Given the description of an element on the screen output the (x, y) to click on. 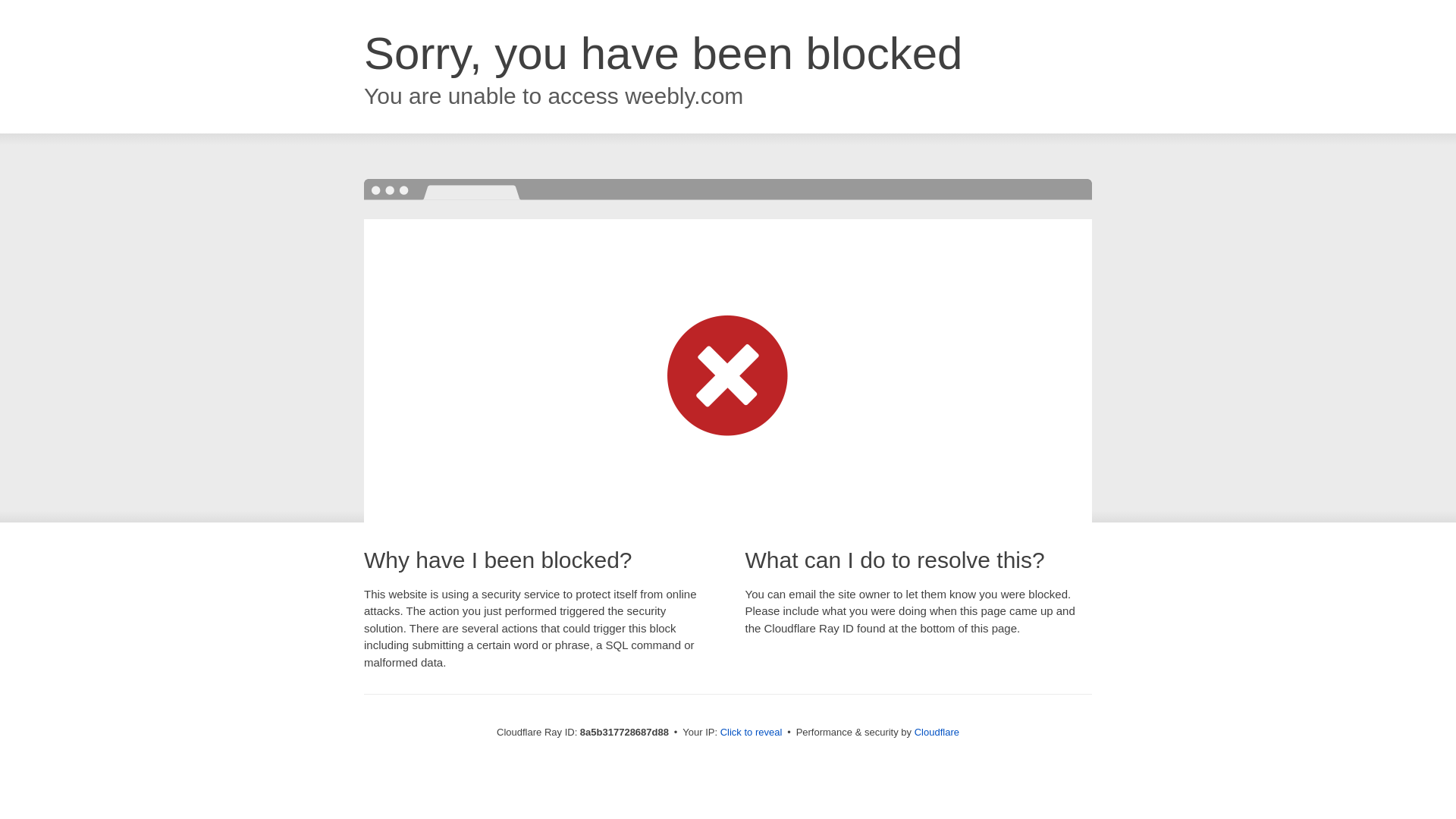
Cloudflare (936, 731)
Click to reveal (751, 732)
